Given the description of an element on the screen output the (x, y) to click on. 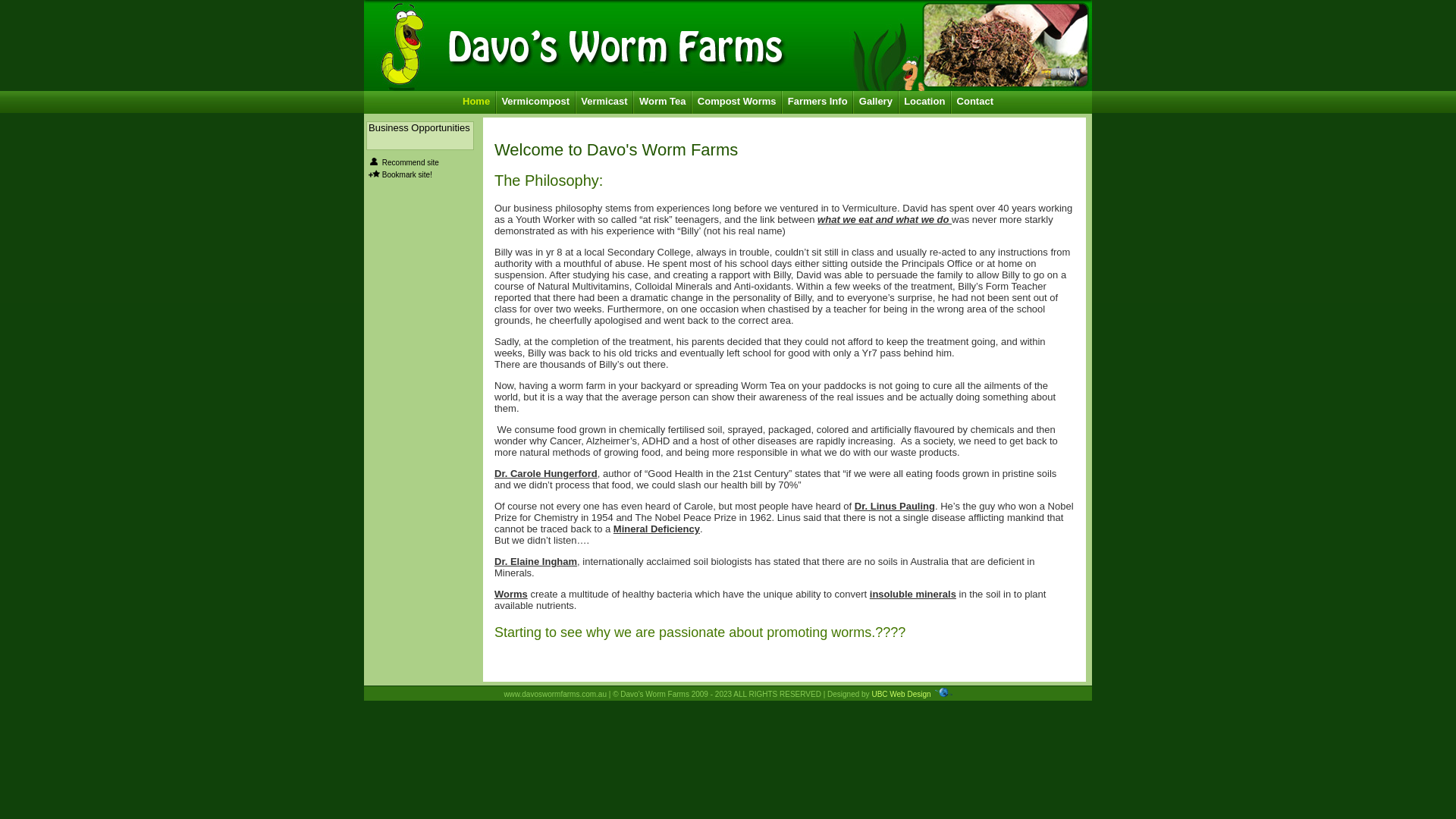
Recommend site Element type: text (410, 162)
UBC Web Design Element type: text (900, 694)
Bookmark site! Element type: text (407, 174)
Farmers Info Element type: text (817, 100)
Vermicompost Element type: text (535, 100)
Compost Worms Element type: text (736, 100)
Business Opportunities Element type: text (419, 135)
Home Element type: text (475, 100)
Location Element type: text (923, 100)
Vermicast Element type: text (603, 100)
Worm Tea Element type: text (662, 100)
Gallery Element type: text (875, 100)
Contact Element type: text (975, 100)
